Given the description of an element on the screen output the (x, y) to click on. 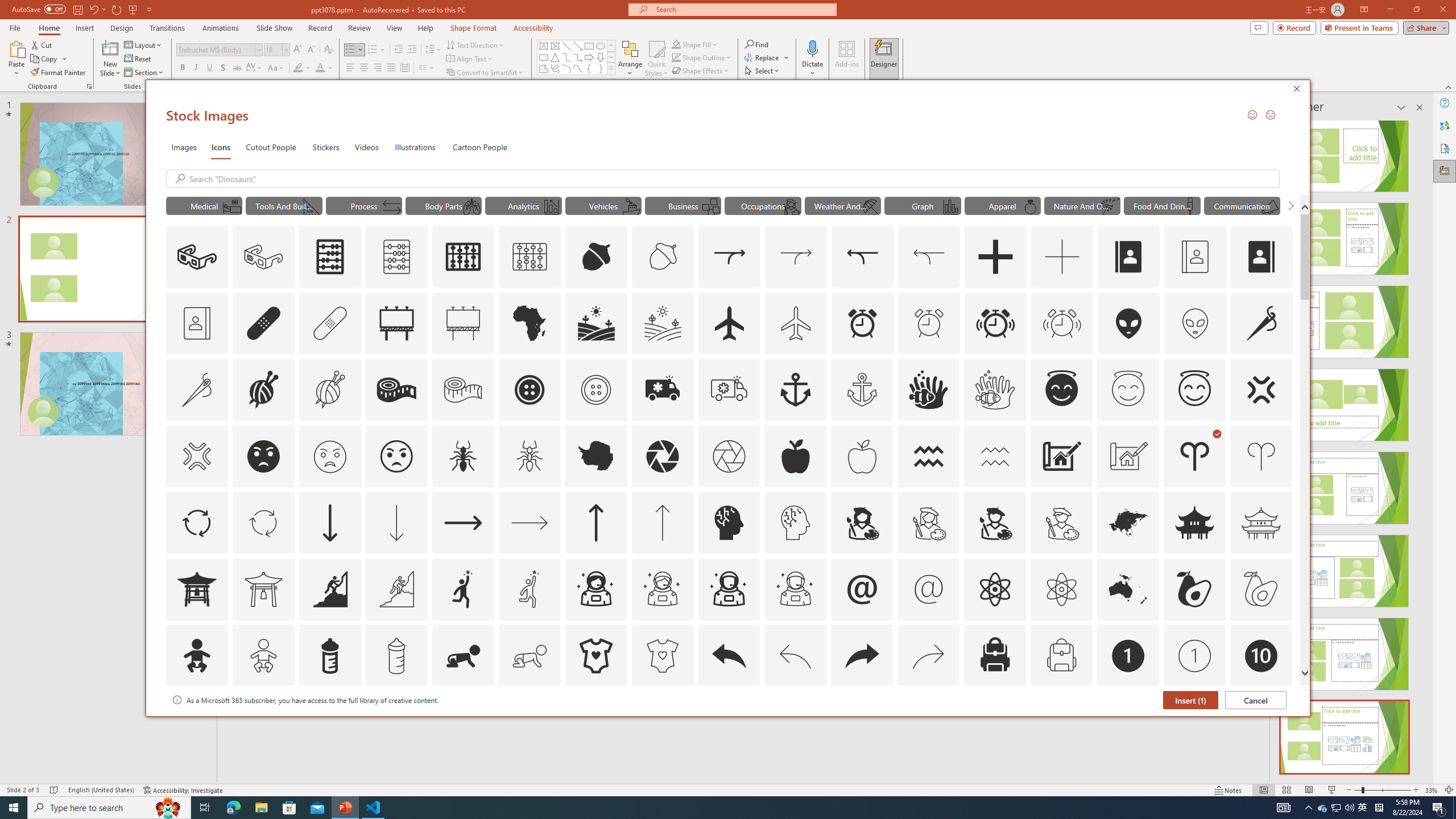
AutomationID: Icons_Aspiration_M (395, 588)
AutomationID: Icons_Badge10 (1260, 655)
"Analytics" Icons. (523, 205)
AutomationID: Icons_Badge5 (662, 721)
AutomationID: Icons_ArrowRight_M (529, 522)
AutomationID: Icons_AdhesiveBandage (263, 323)
